Given the description of an element on the screen output the (x, y) to click on. 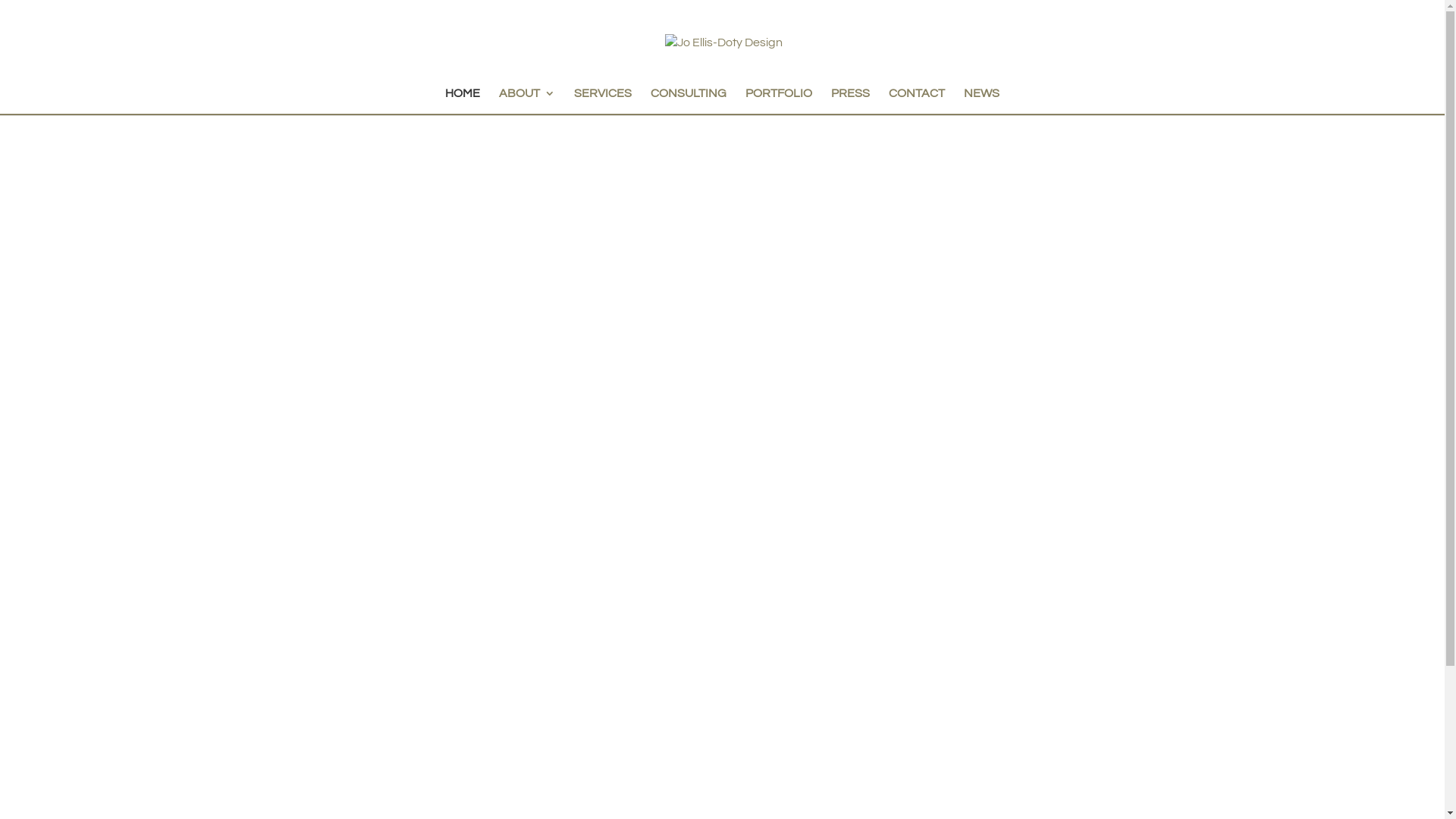
PRESS Element type: text (850, 100)
CONSULTING Element type: text (688, 100)
HOME Element type: text (462, 100)
ABOUT Element type: text (526, 100)
NEWS Element type: text (981, 100)
SERVICES Element type: text (602, 100)
CONTACT Element type: text (916, 100)
PORTFOLIO Element type: text (778, 100)
